Given the description of an element on the screen output the (x, y) to click on. 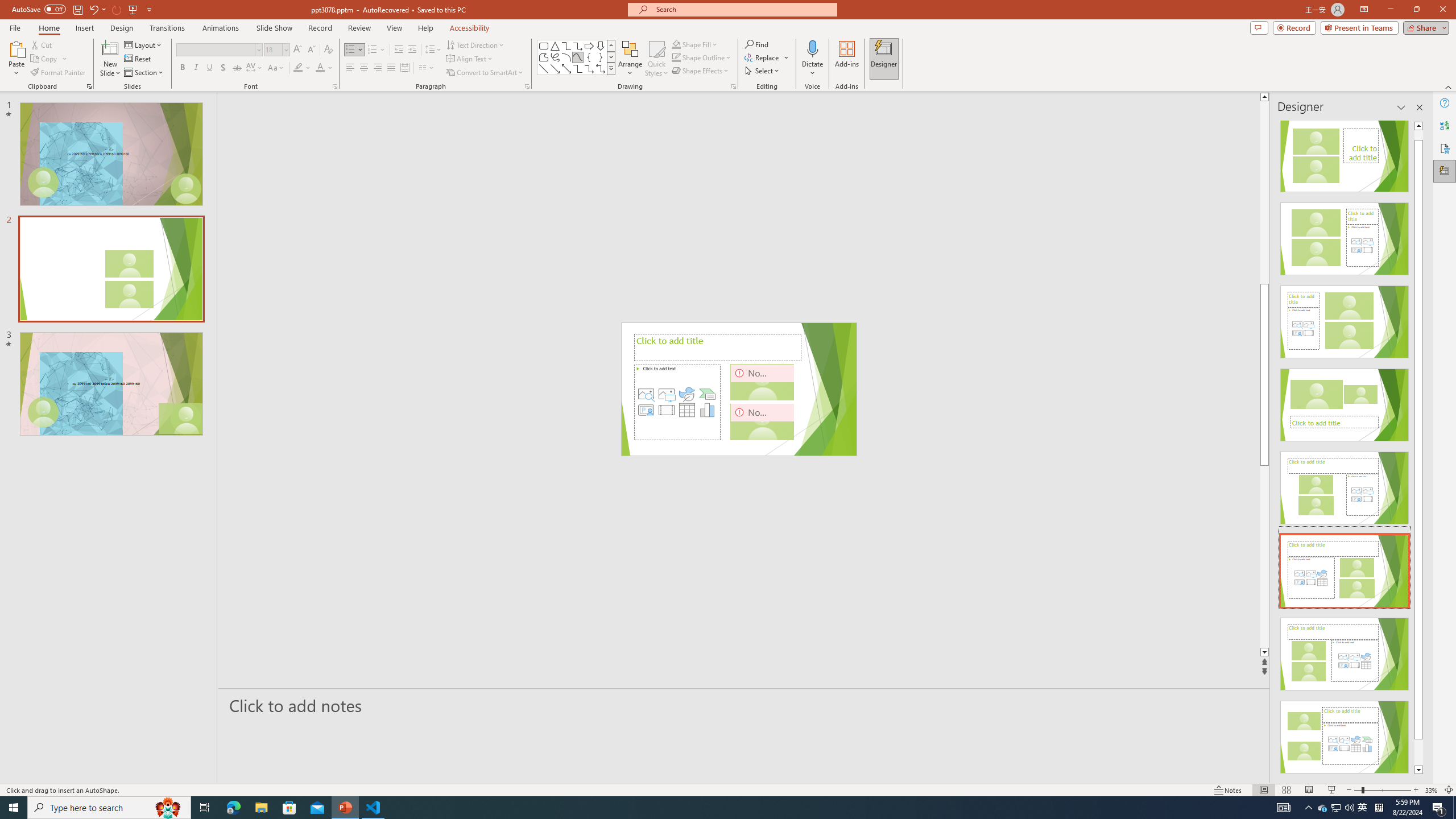
Recommended Design: Design Idea (1344, 152)
Insert Video (666, 409)
